Given the description of an element on the screen output the (x, y) to click on. 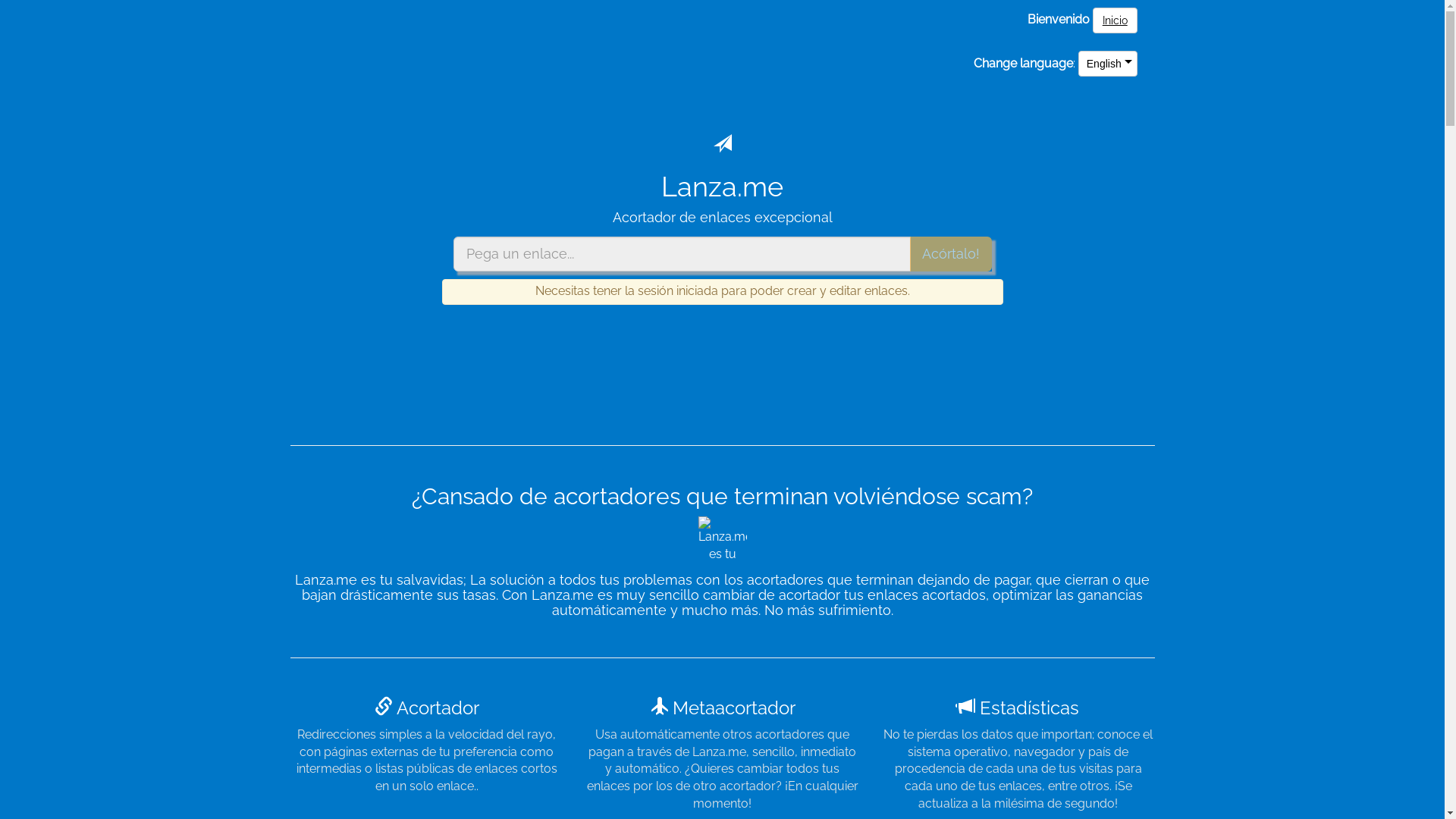
Inicio Element type: text (1114, 20)
English Element type: text (1107, 63)
